Given the description of an element on the screen output the (x, y) to click on. 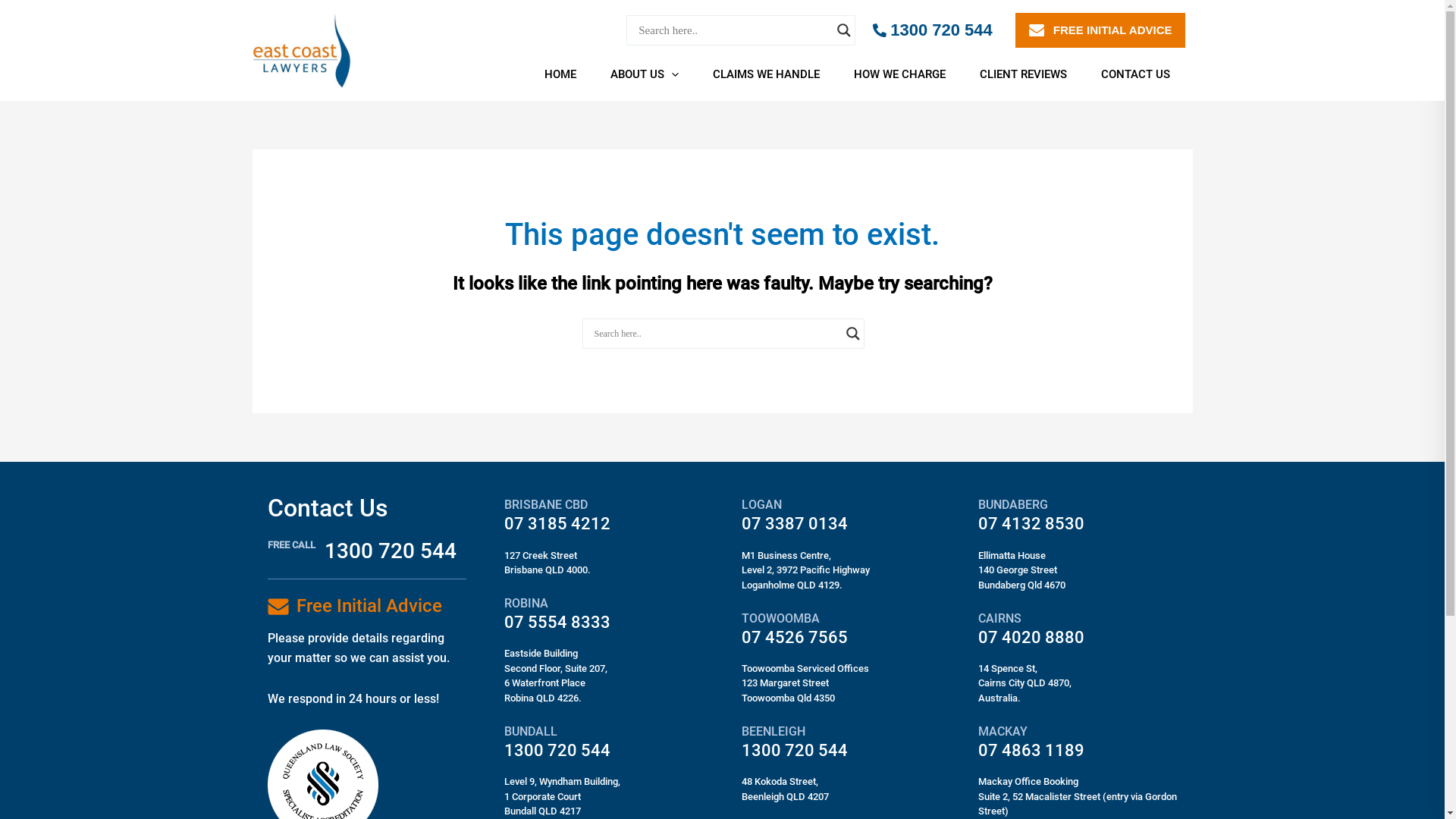
HOW WE CHARGE Element type: text (904, 73)
07 3185 4212 Element type: text (557, 523)
1300 720 544 Element type: text (794, 749)
07 4020 8880 Element type: text (1031, 636)
07 4526 7565 Element type: text (794, 636)
07 4863 1189 Element type: text (1031, 749)
1300 720 544 Element type: text (557, 749)
07 5554 8333 Element type: text (557, 621)
ABOUT US Element type: text (650, 73)
CLIENT REVIEWS Element type: text (1027, 73)
HOME Element type: text (565, 73)
FREE INITIAL ADVICE Element type: text (1100, 29)
07 4132 8530 Element type: text (1031, 523)
07 3387 0134 Element type: text (794, 523)
1300 720 544 Element type: text (390, 550)
CONTACT US Element type: text (1140, 73)
CLAIMS WE HANDLE Element type: text (770, 73)
Free Initial Advice Element type: text (368, 605)
1300 720 544 Element type: text (932, 30)
